Given the description of an element on the screen output the (x, y) to click on. 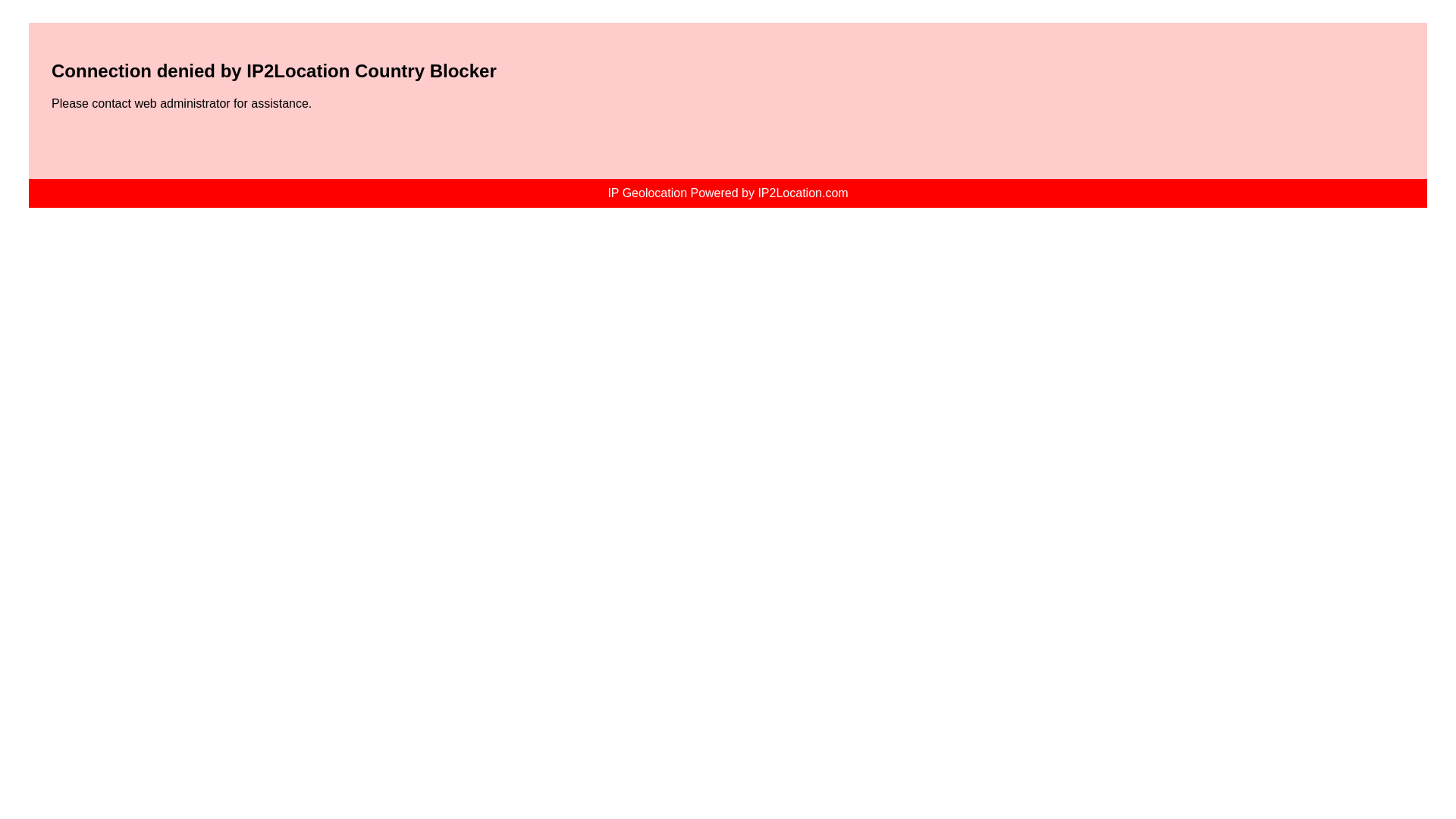
IP Geolocation Powered by IP2Location.com (727, 192)
